Given the description of an element on the screen output the (x, y) to click on. 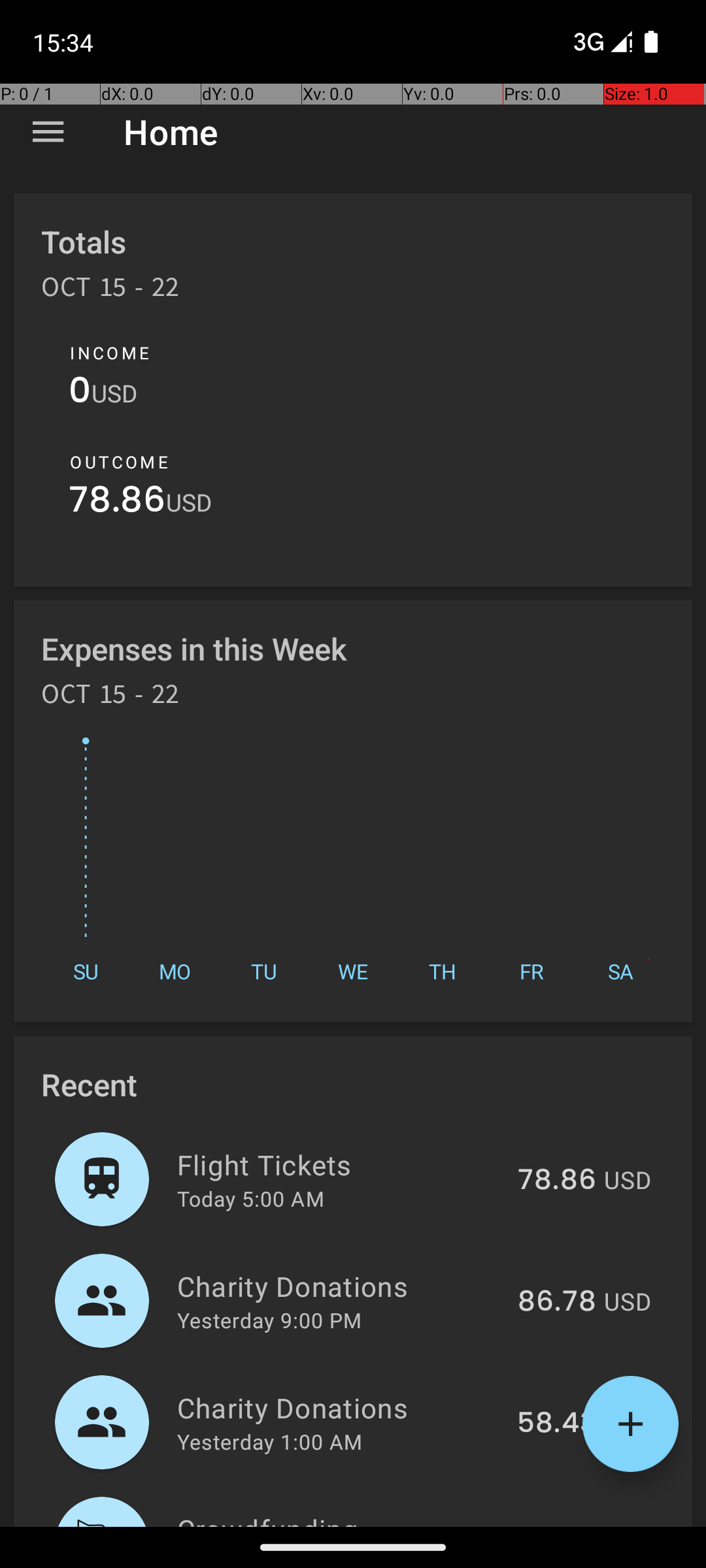
78.86 Element type: android.widget.TextView (117, 502)
Flight Tickets Element type: android.widget.TextView (339, 1164)
Today 5:00 AM Element type: android.widget.TextView (250, 1198)
Charity Donations Element type: android.widget.TextView (339, 1285)
Yesterday 9:00 PM Element type: android.widget.TextView (269, 1320)
86.78 Element type: android.widget.TextView (556, 1301)
Yesterday 1:00 AM Element type: android.widget.TextView (269, 1441)
58.43 Element type: android.widget.TextView (556, 1423)
Crowdfunding Element type: android.widget.TextView (335, 1518)
120.62 Element type: android.widget.TextView (552, 1524)
